Given the description of an element on the screen output the (x, y) to click on. 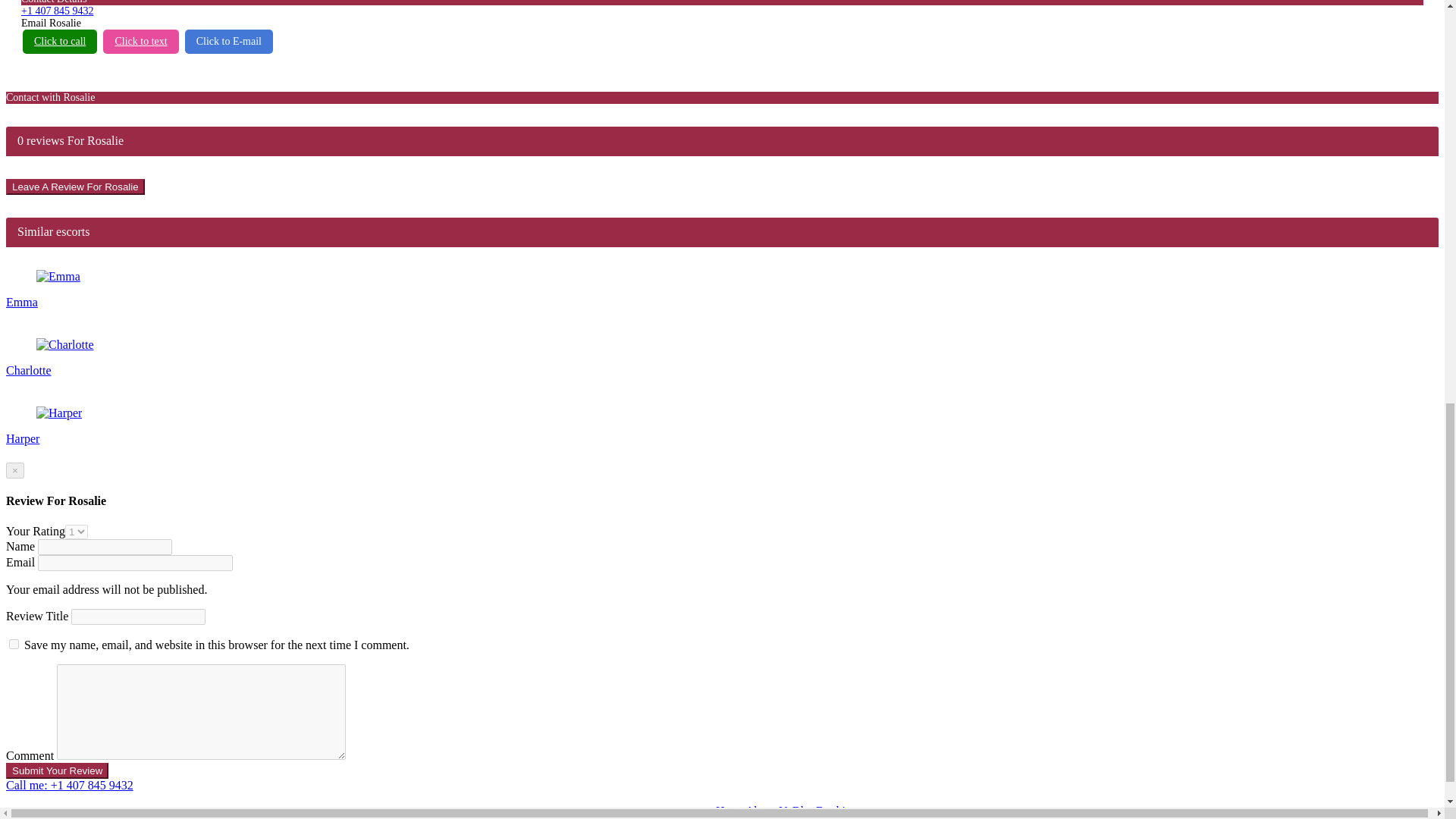
Harper (58, 413)
yes (13, 644)
Emma (58, 276)
Charlotte (65, 345)
Submit Your Review (56, 770)
